Given the description of an element on the screen output the (x, y) to click on. 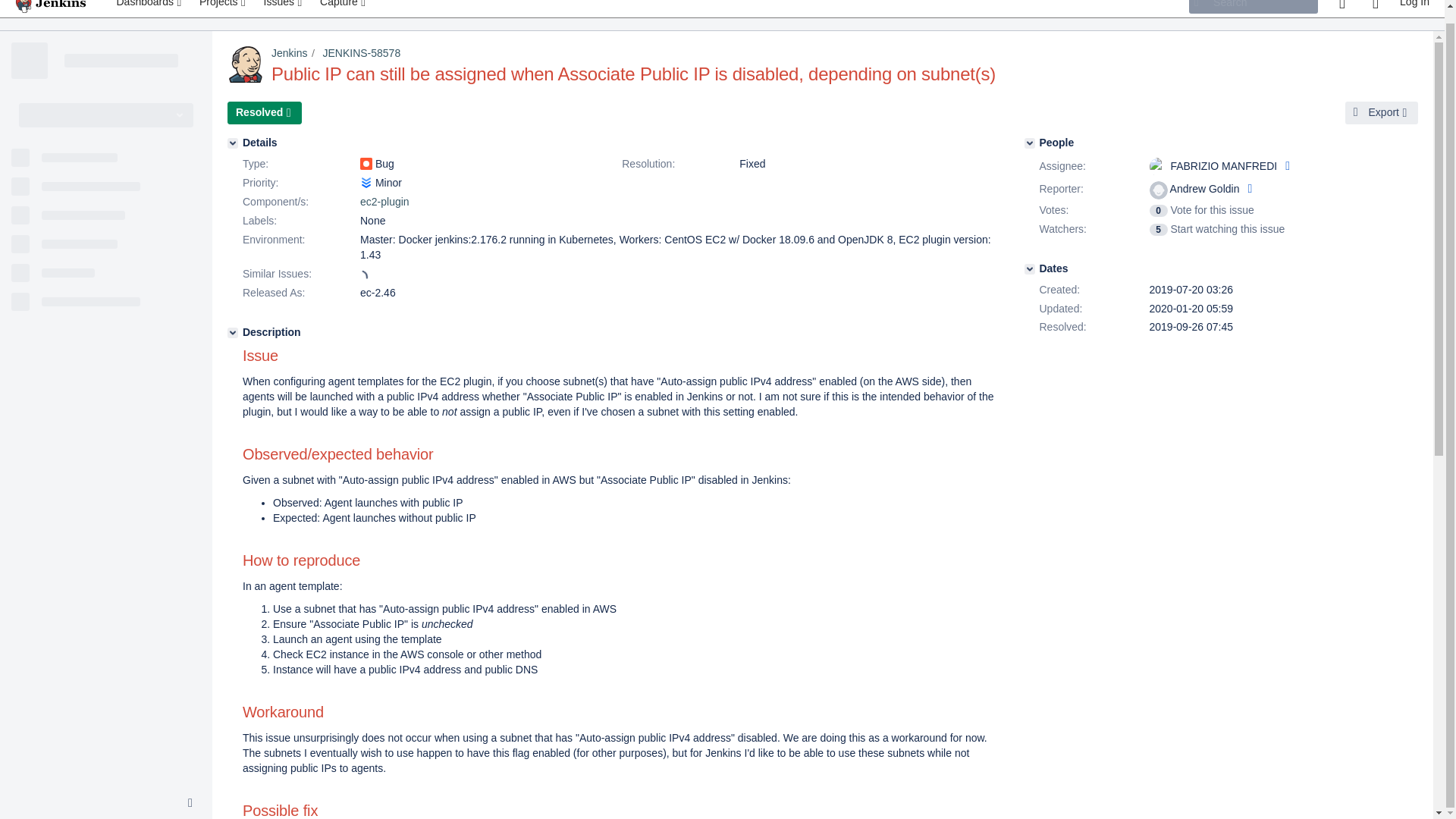
Capture (344, 8)
Search for issues and view recent issues (284, 8)
Help (1374, 8)
Issues (284, 8)
JENKINS-58578 (360, 52)
Description (232, 332)
Projects (224, 8)
Log In (1414, 8)
Give feedback to Atlassian (1341, 8)
ec2-plugin (384, 201)
View and manage your dashboards (150, 8)
Export this issue in another format (1381, 112)
View recent projects and browse a list of projects (224, 8)
Details (232, 143)
